Given the description of an element on the screen output the (x, y) to click on. 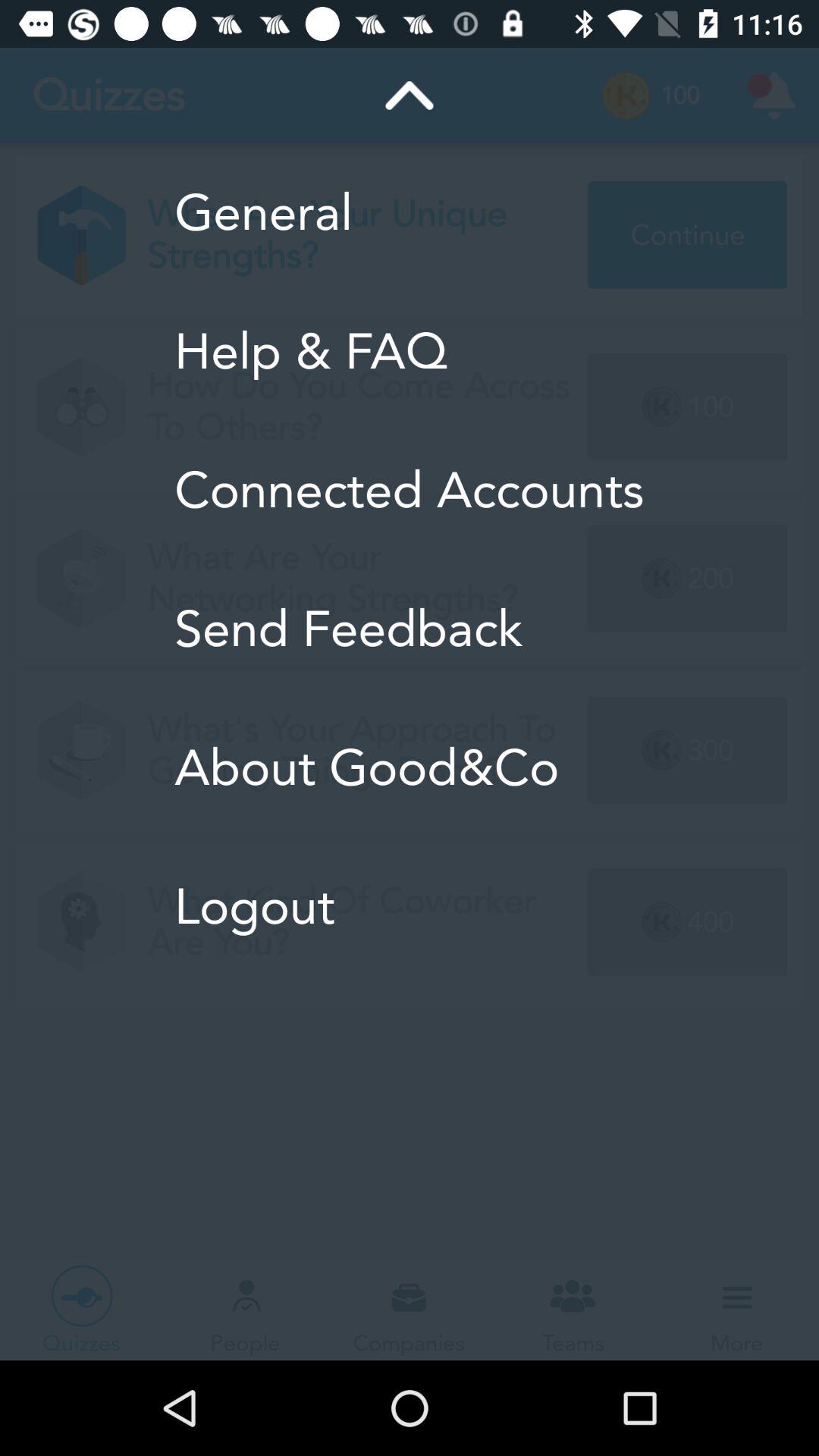
press the icon below help & faq (408, 489)
